Given the description of an element on the screen output the (x, y) to click on. 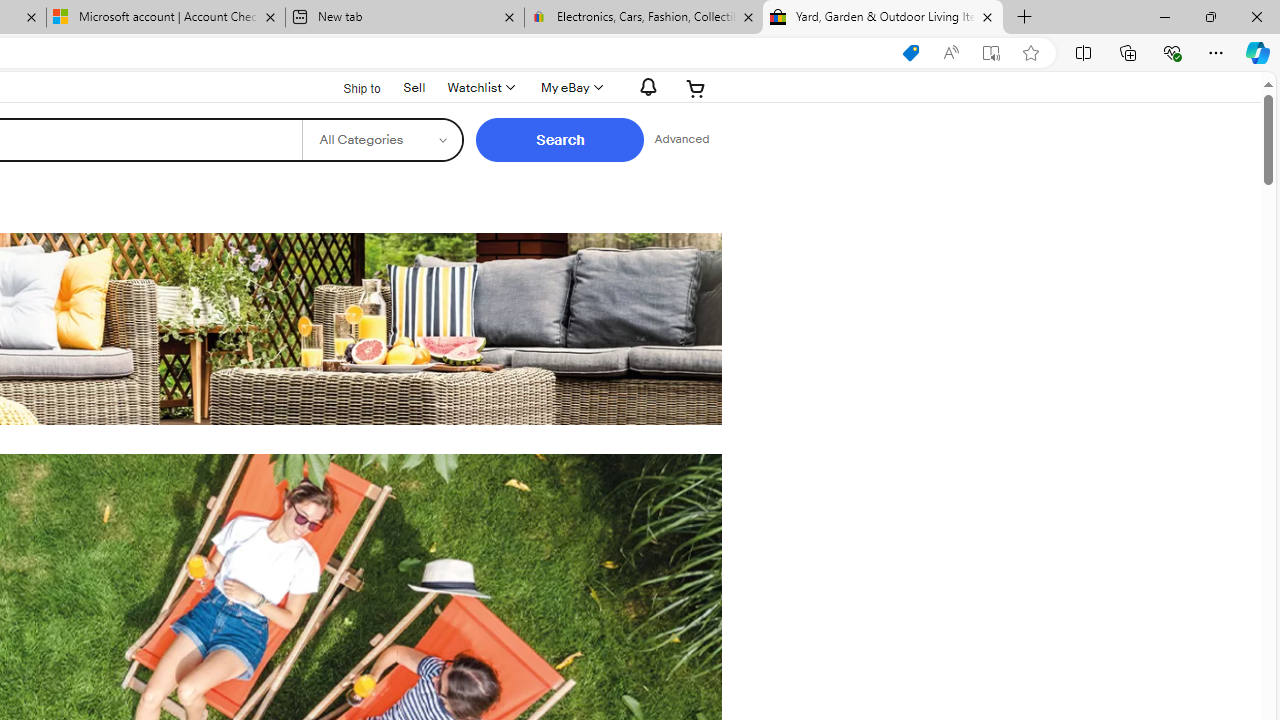
Your shopping cart (696, 88)
Advanced Search (681, 139)
Ship to (349, 86)
My eBayExpand My eBay (569, 88)
Expand Cart (696, 88)
Watchlist (479, 88)
My eBay (569, 88)
Select a category for search (382, 139)
Yard, Garden & Outdoor Living Items for Sale - eBay (883, 17)
